Given the description of an element on the screen output the (x, y) to click on. 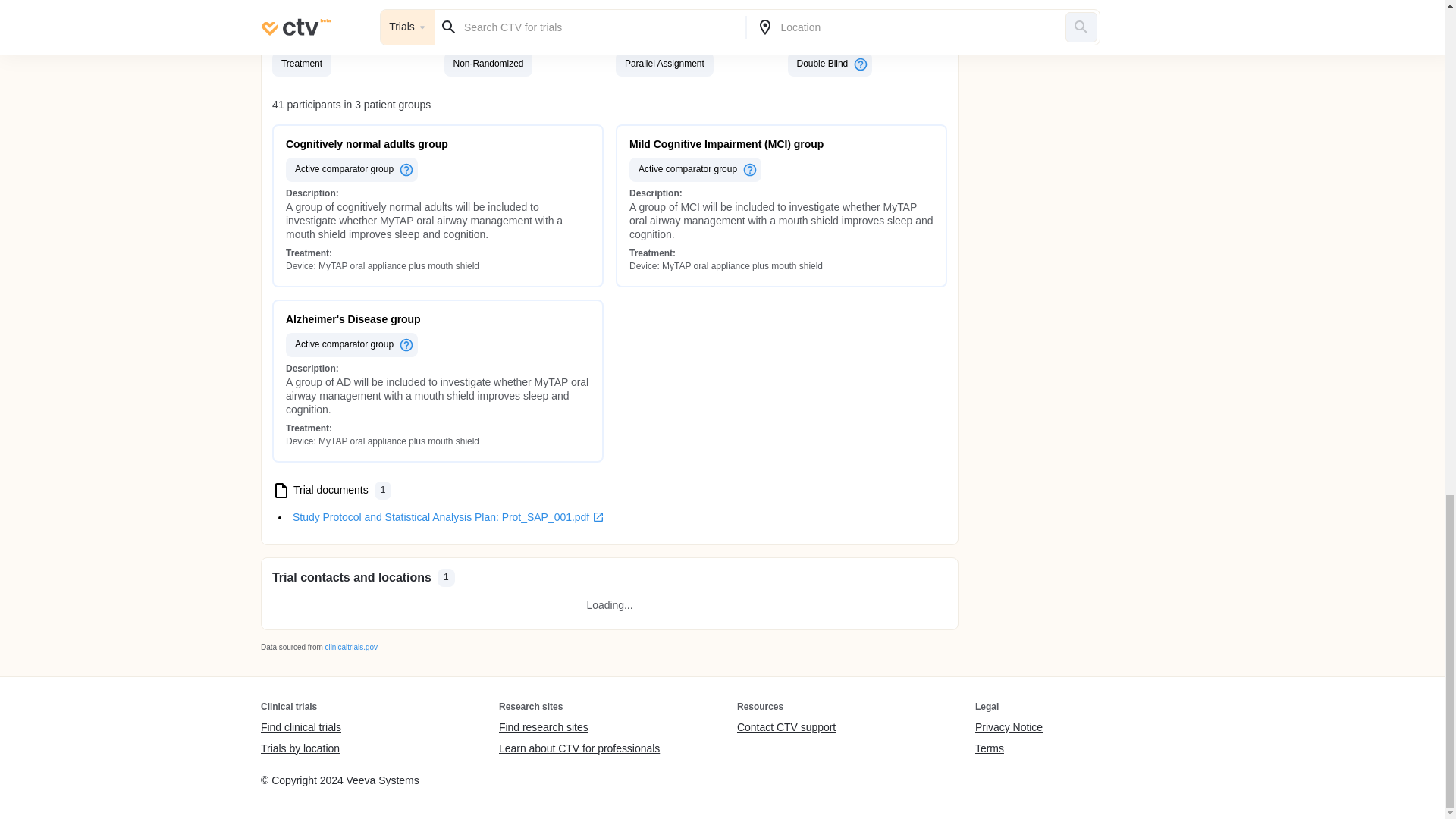
Trials by location (300, 748)
clinicaltrials.gov (350, 646)
Terms (1008, 748)
Learn about CTV for professionals (579, 748)
Contact CTV support (785, 727)
Find clinical trials (300, 727)
Find research sites (579, 727)
Privacy Notice (1008, 727)
